Given the description of an element on the screen output the (x, y) to click on. 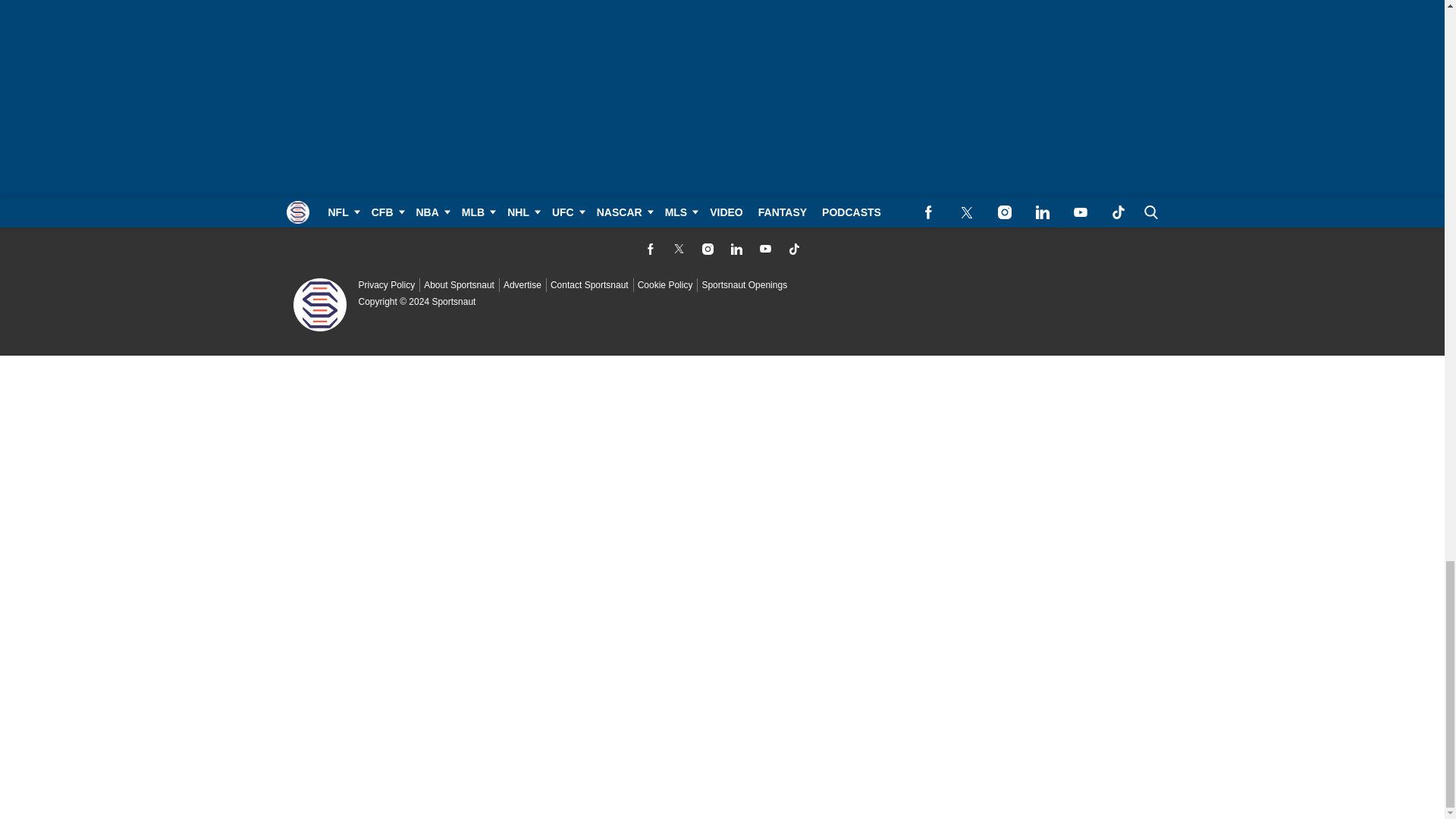
Follow us on Facebook (650, 248)
Follow us on Twitter (678, 248)
Connect with us on LinkedIn (736, 248)
Connect with us on TikTok (794, 248)
Subscribe to our YouTube channel (765, 248)
Follow us on Instagram (707, 248)
